Given the description of an element on the screen output the (x, y) to click on. 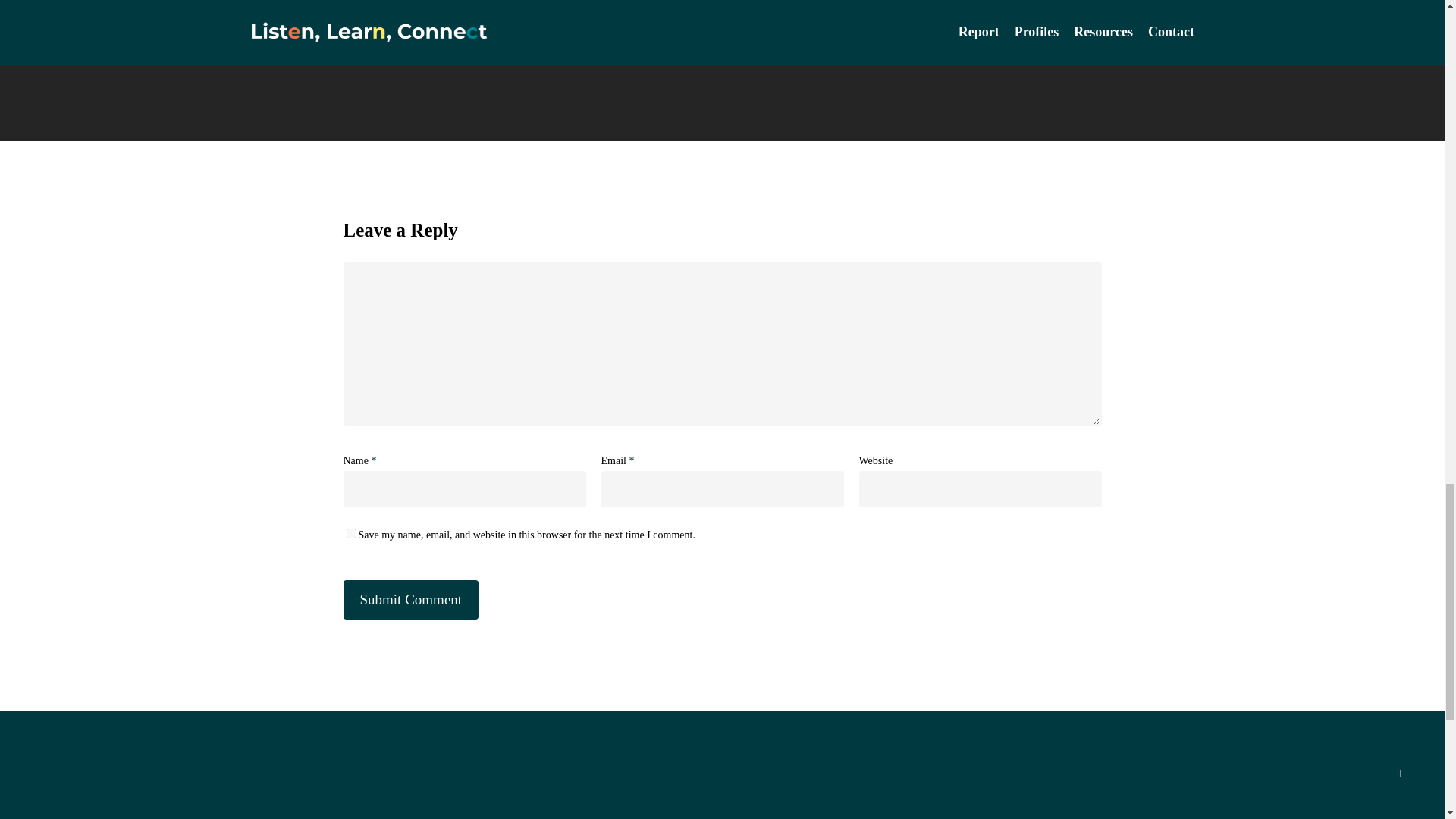
Submit Comment (410, 599)
Submit Comment (410, 599)
yes (350, 533)
